Given the description of an element on the screen output the (x, y) to click on. 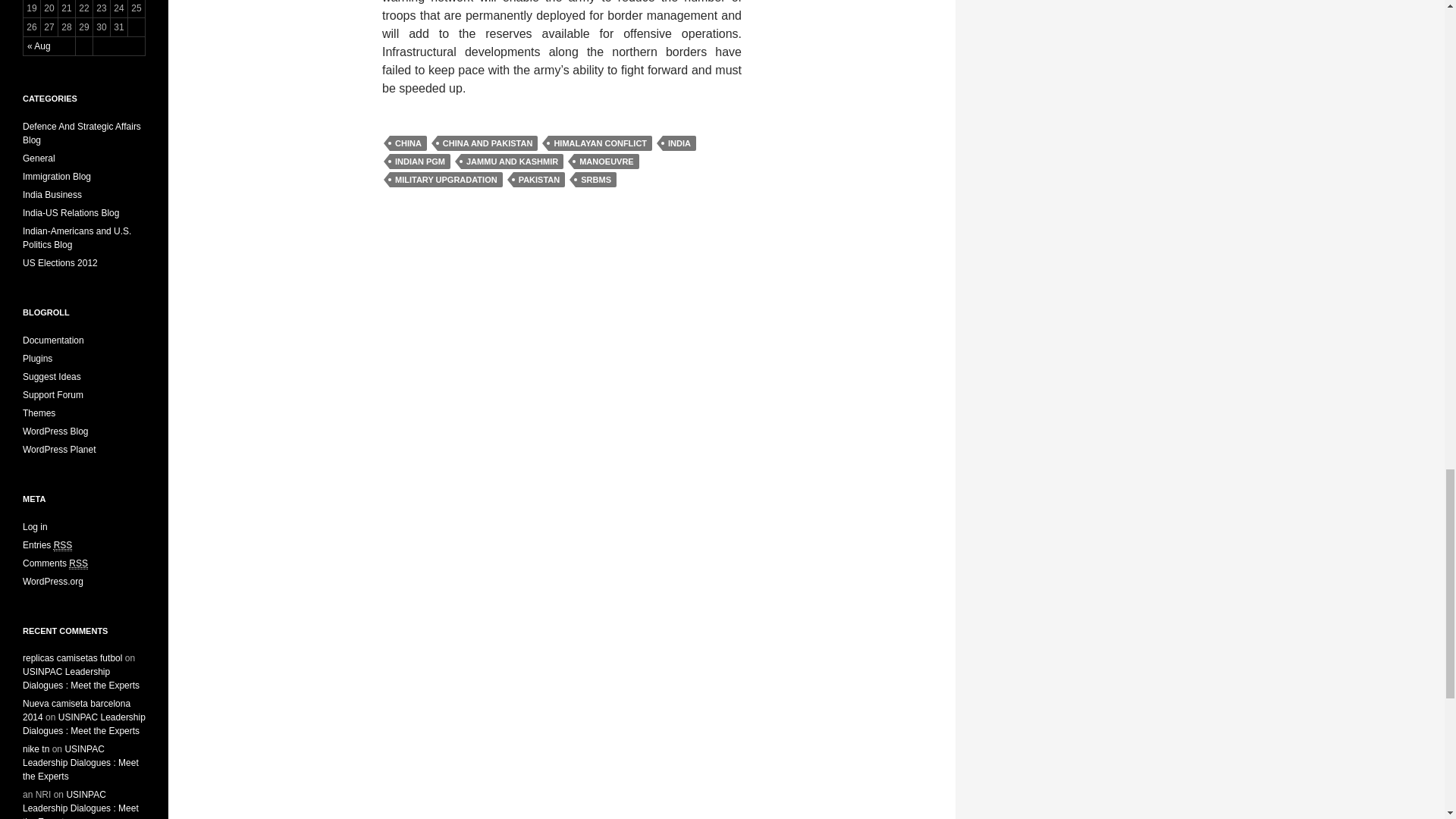
View all posts filed under India Business (52, 194)
MILITARY UPGRADATION (446, 179)
INDIAN PGM (419, 160)
CHINA (408, 142)
CHINA AND PAKISTAN (488, 142)
View all posts filed under Immigration Blog (56, 176)
View all posts filed under India-US Relations Blog (71, 213)
View all posts filed under General (39, 158)
View posts for August 2018 (38, 45)
